Given the description of an element on the screen output the (x, y) to click on. 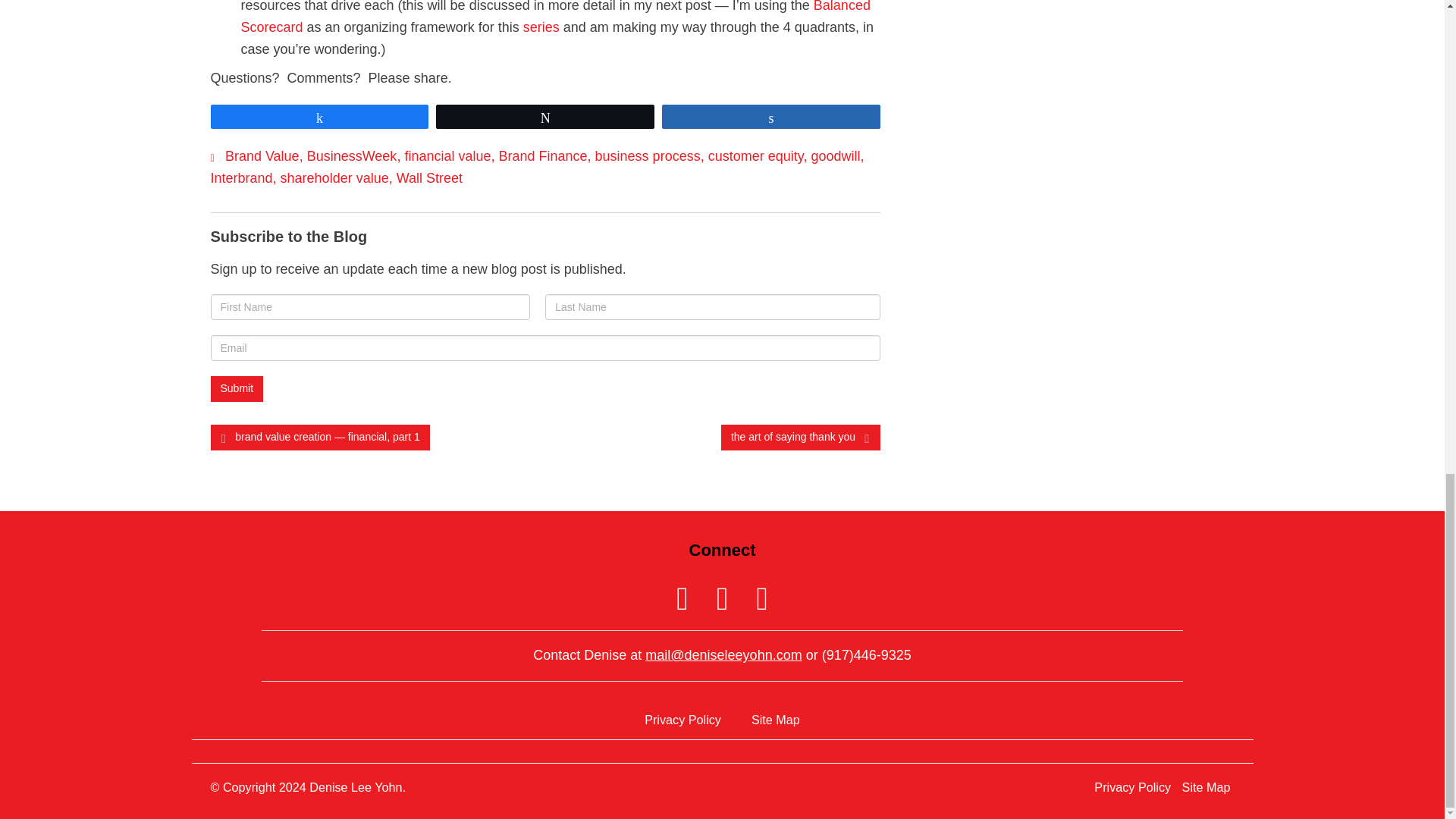
Submit (237, 388)
